Given the description of an element on the screen output the (x, y) to click on. 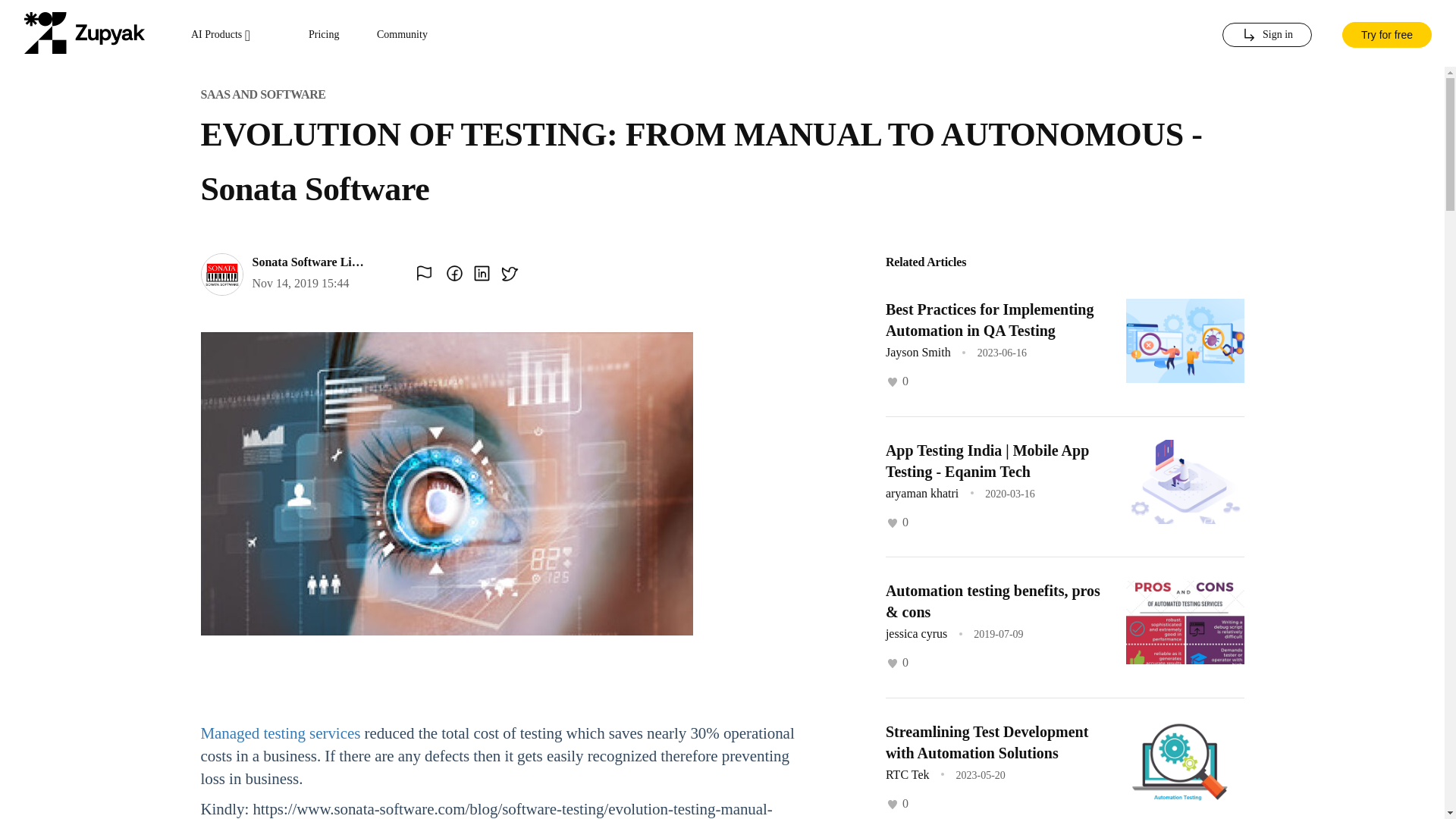
 Sign in (1267, 34)
Community (402, 34)
Best Practices for Implementing Automation in QA Testing (989, 320)
Try for free (1386, 33)
Best Practices for Implementing Automation in QA Testing (989, 320)
Streamlining Test Development with Automation Solutions (986, 742)
SAAS AND SOFTWARE (262, 93)
Pricing (323, 34)
Managed testing services (279, 732)
